Given the description of an element on the screen output the (x, y) to click on. 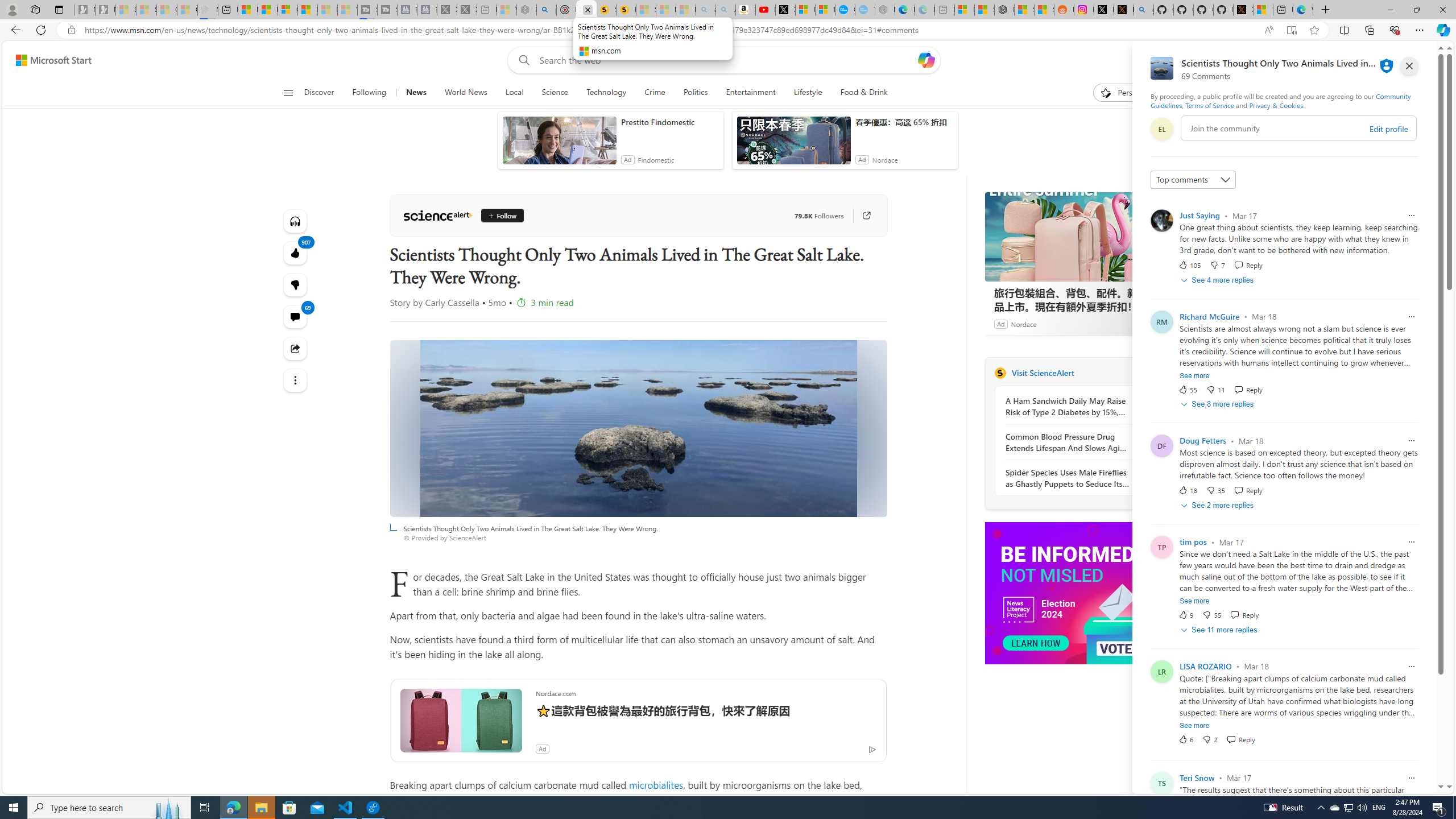
The most popular Google 'how to' searches - Sleeping (864, 9)
View comments 69 Comment (295, 316)
Ad Choice (1142, 323)
Skip to footer (46, 59)
App bar (728, 29)
Entertainment (750, 92)
55 Like (1187, 389)
See 8 more replies (1218, 404)
